Given the description of an element on the screen output the (x, y) to click on. 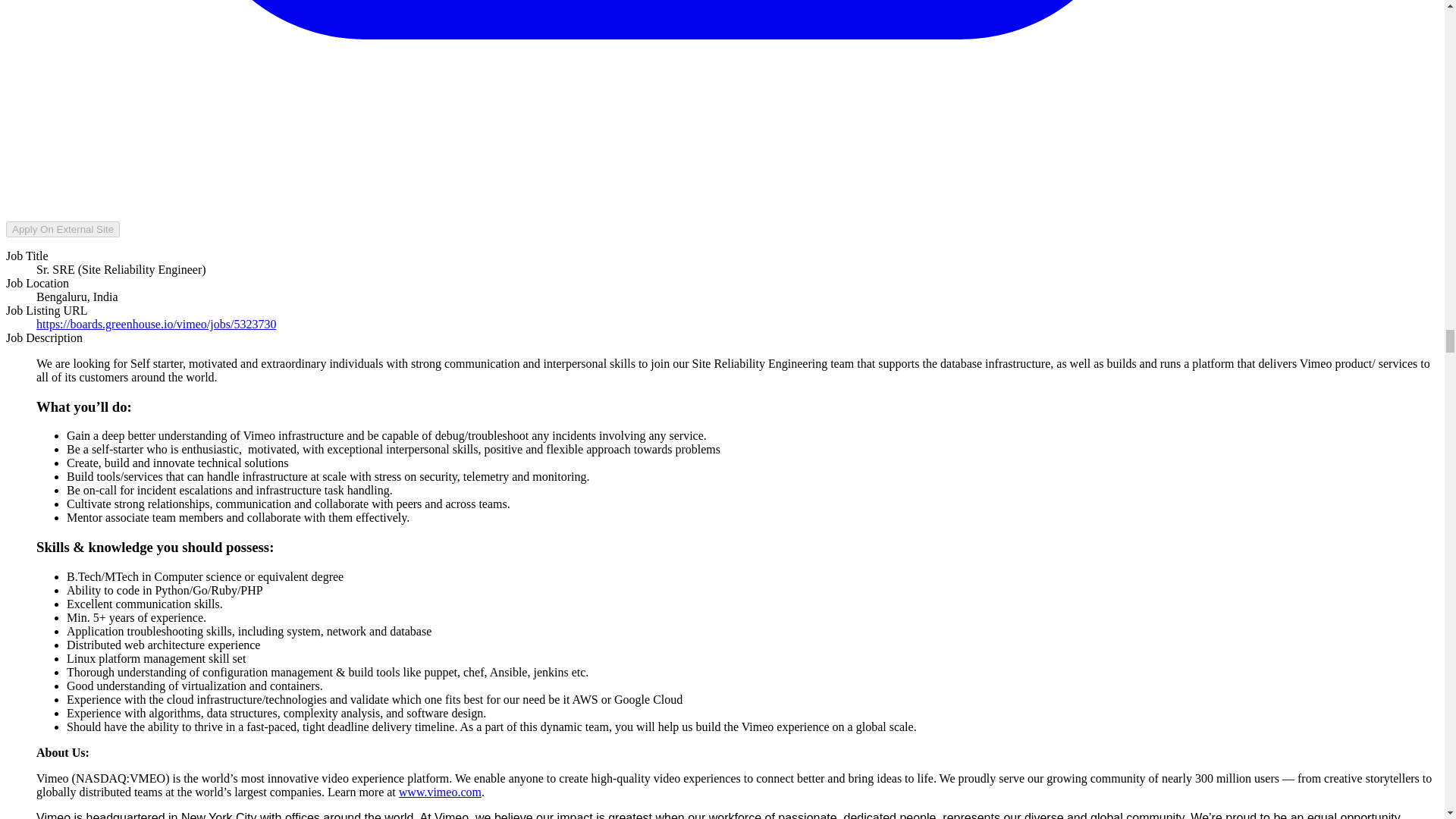
www.vimeo.com (439, 791)
Apply On External Site (62, 229)
